Given the description of an element on the screen output the (x, y) to click on. 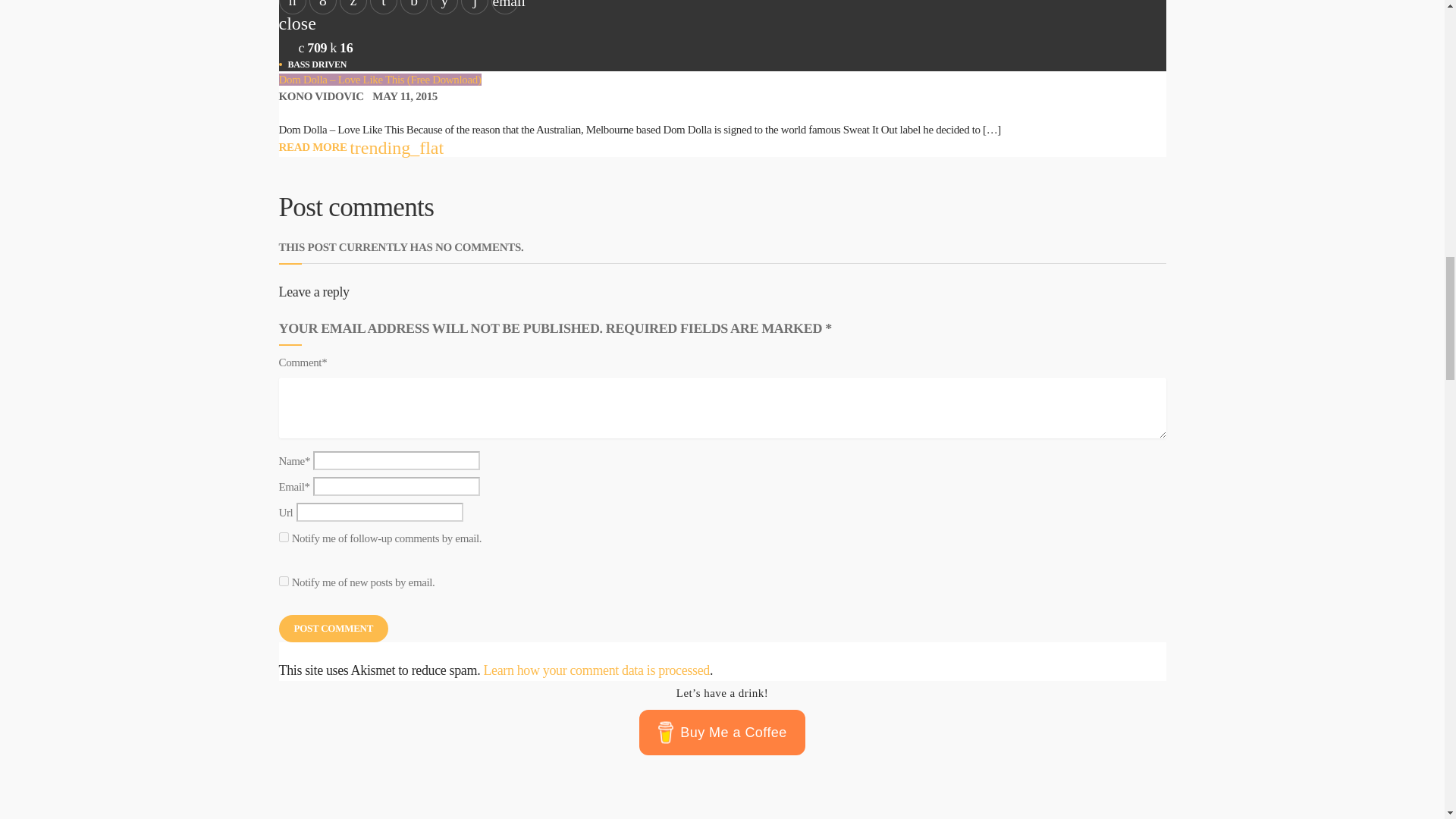
Post Comment (333, 628)
subscribe (283, 581)
subscribe (283, 537)
